Given the description of an element on the screen output the (x, y) to click on. 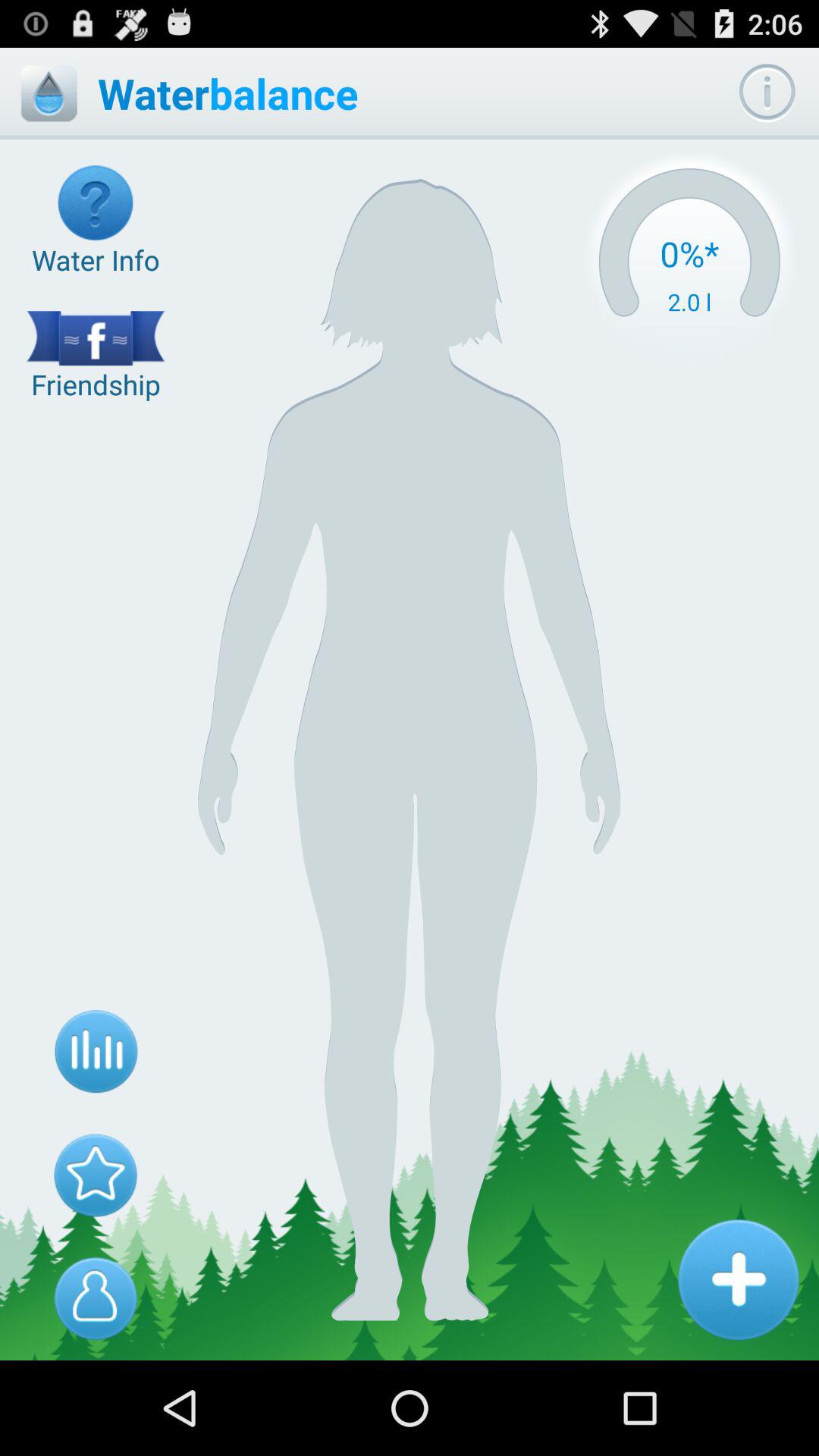
add new (738, 1279)
